Given the description of an element on the screen output the (x, y) to click on. 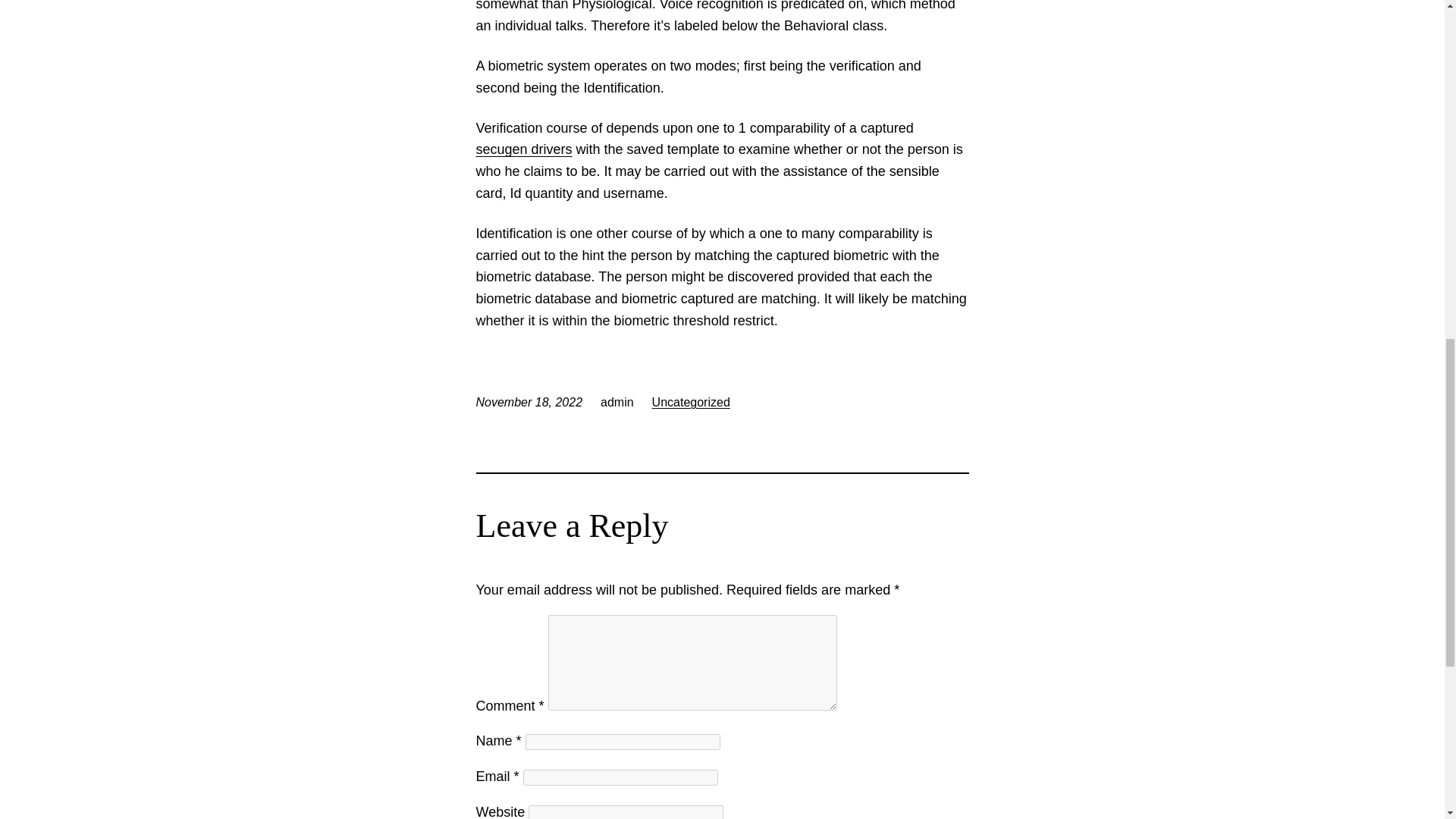
secugen drivers (524, 149)
Uncategorized (691, 401)
